Given the description of an element on the screen output the (x, y) to click on. 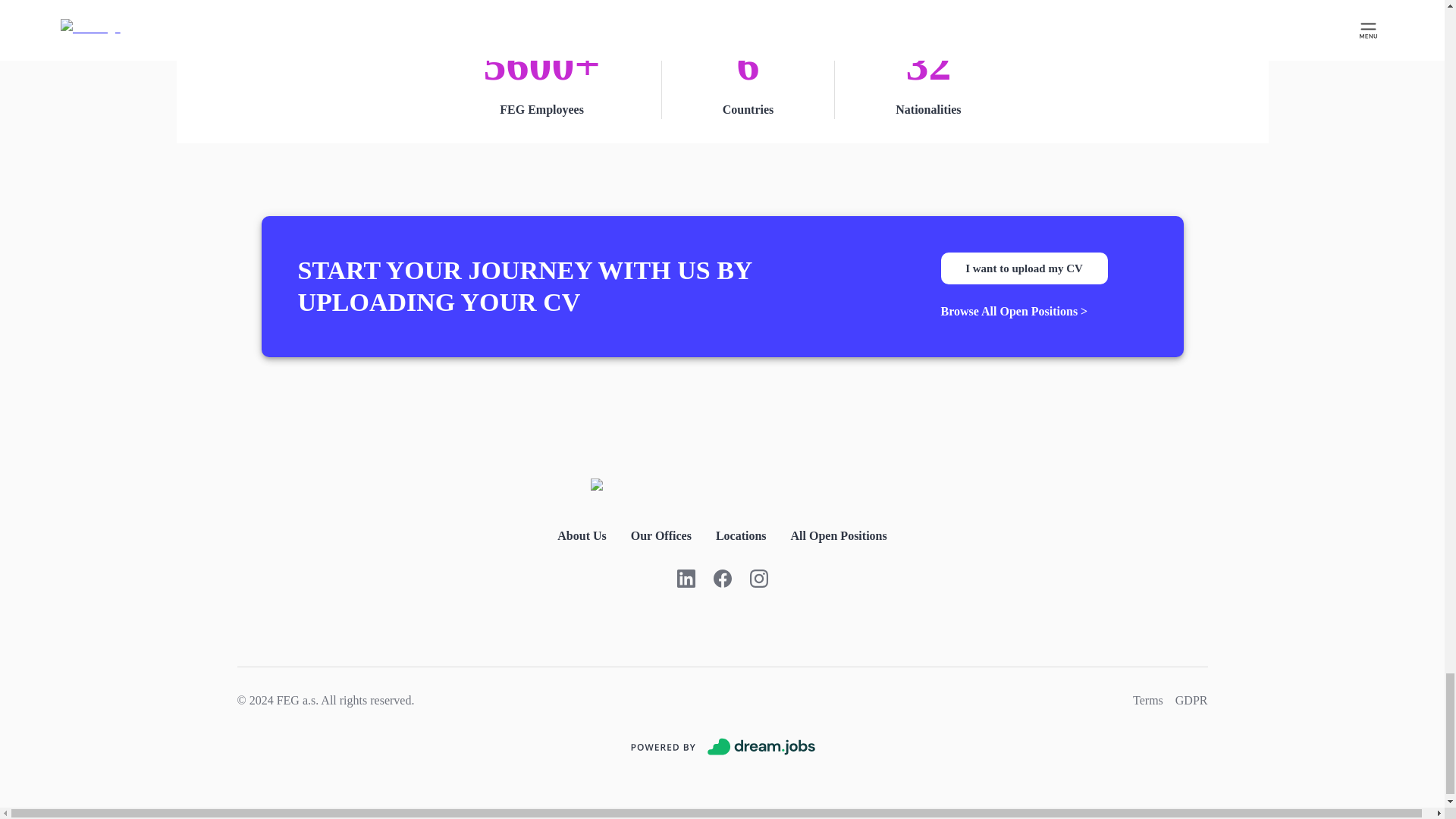
Locations (741, 536)
Our Offices (660, 536)
All Open Positions (838, 536)
I want to upload my CV (1023, 268)
About Us (581, 536)
Terms (1147, 700)
GDPR (1191, 700)
